Given the description of an element on the screen output the (x, y) to click on. 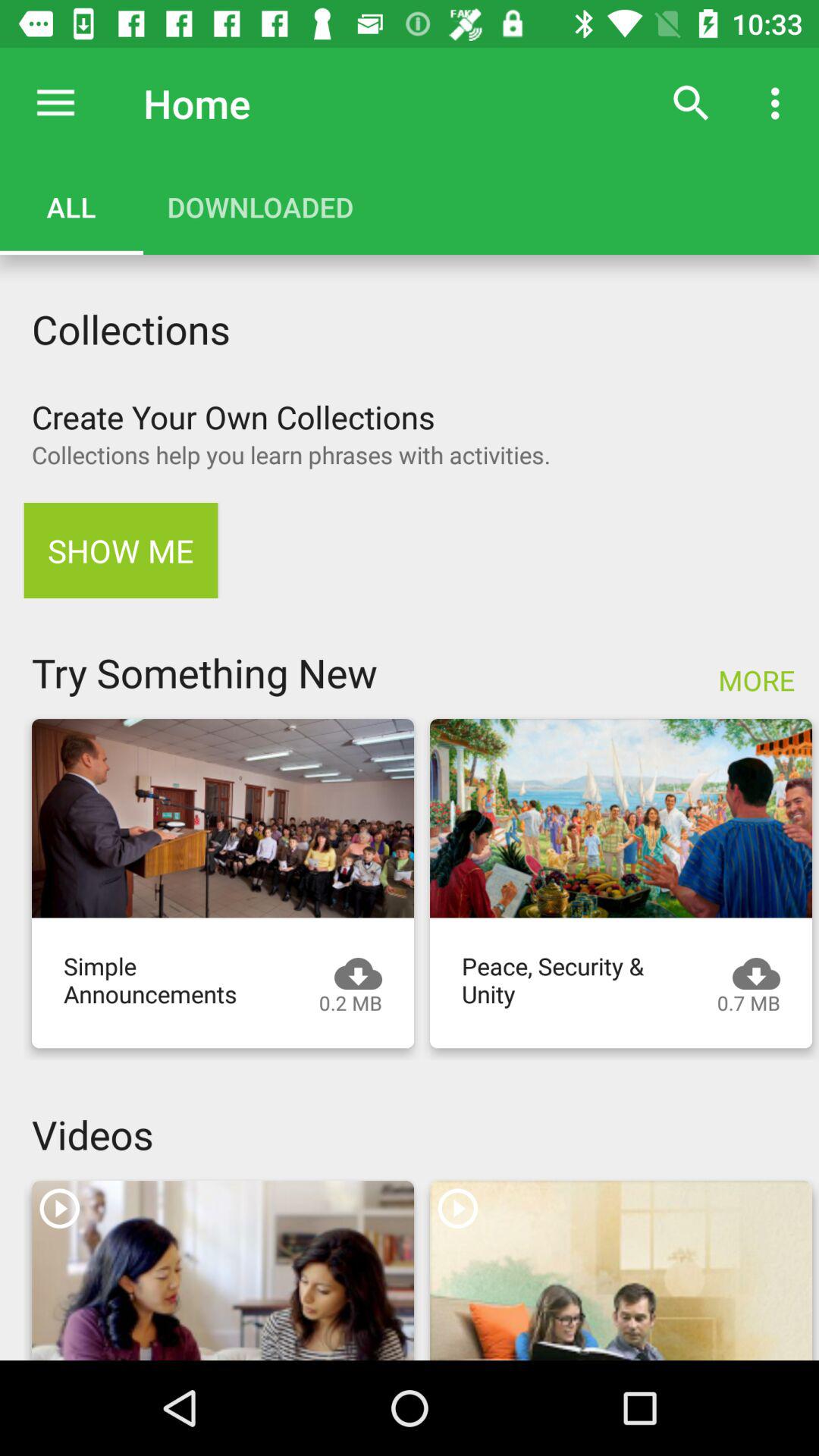
click on peace security and unity (620, 817)
